Given the description of an element on the screen output the (x, y) to click on. 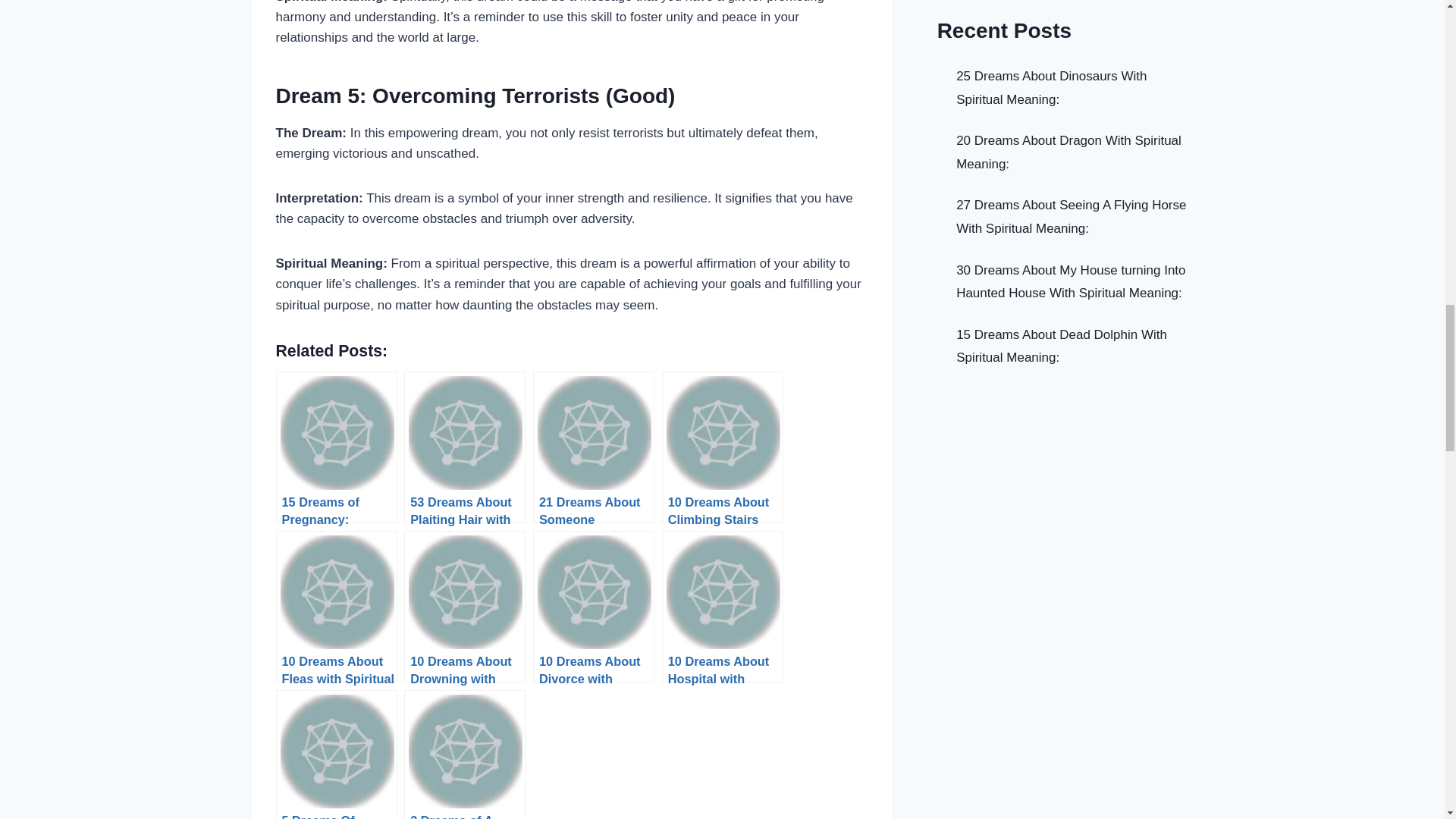
5 Dreams Of Beating a Black Dog with Spiritual Meanings (336, 754)
2 Dreams of A Horse Attacking You With Spiritual Meanings (464, 754)
5 Dreams Of Beating a Black Dog with Spiritual Meanings (336, 754)
2 Dreams of A Horse Attacking You With Spiritual Meanings (464, 754)
